Given the description of an element on the screen output the (x, y) to click on. 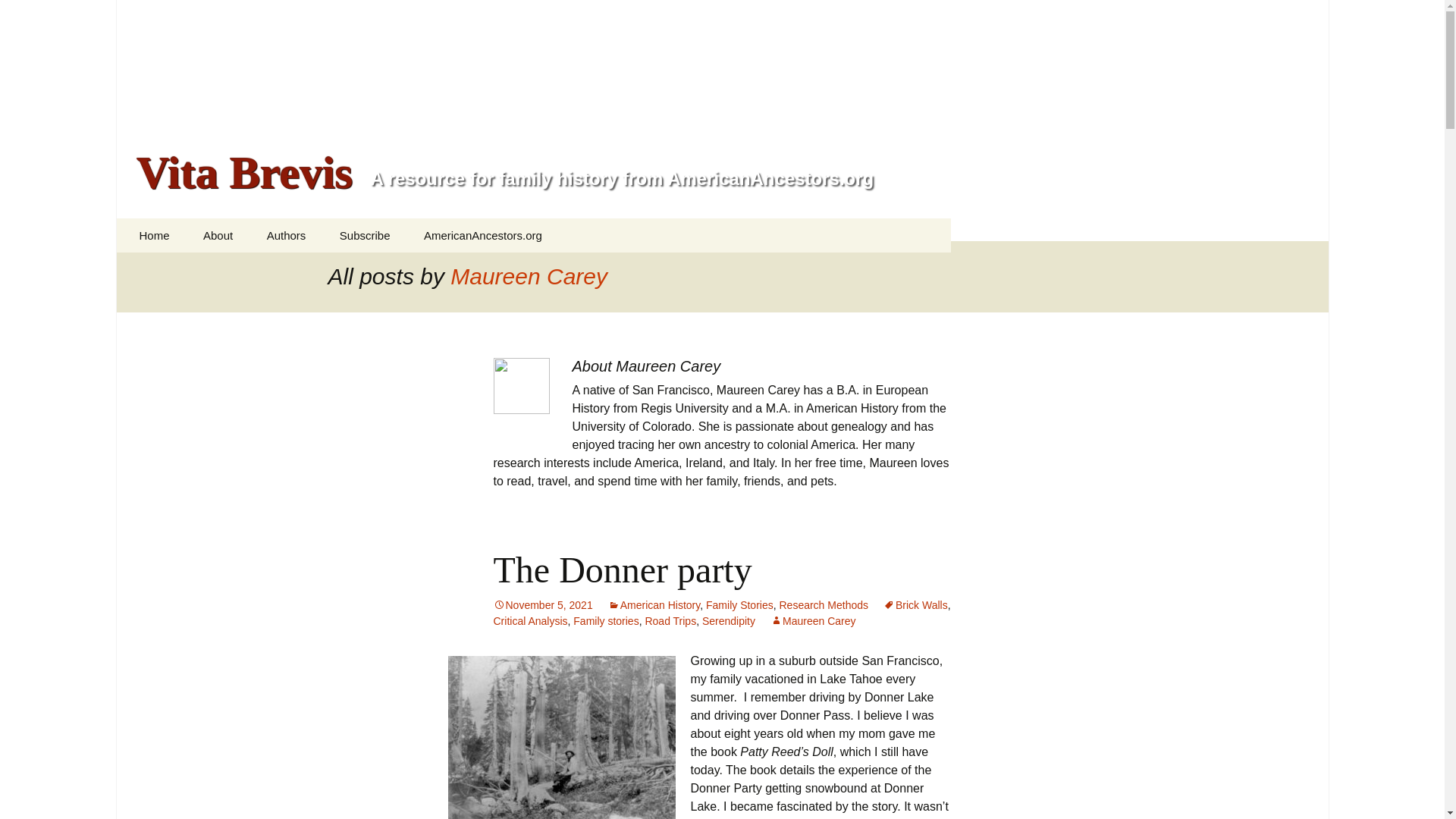
Robert Charles Anderson (327, 275)
About (217, 235)
View all posts by Maureen Carey (813, 621)
Home (153, 235)
Authors (286, 235)
Permalink to The Donner party (542, 604)
